Given the description of an element on the screen output the (x, y) to click on. 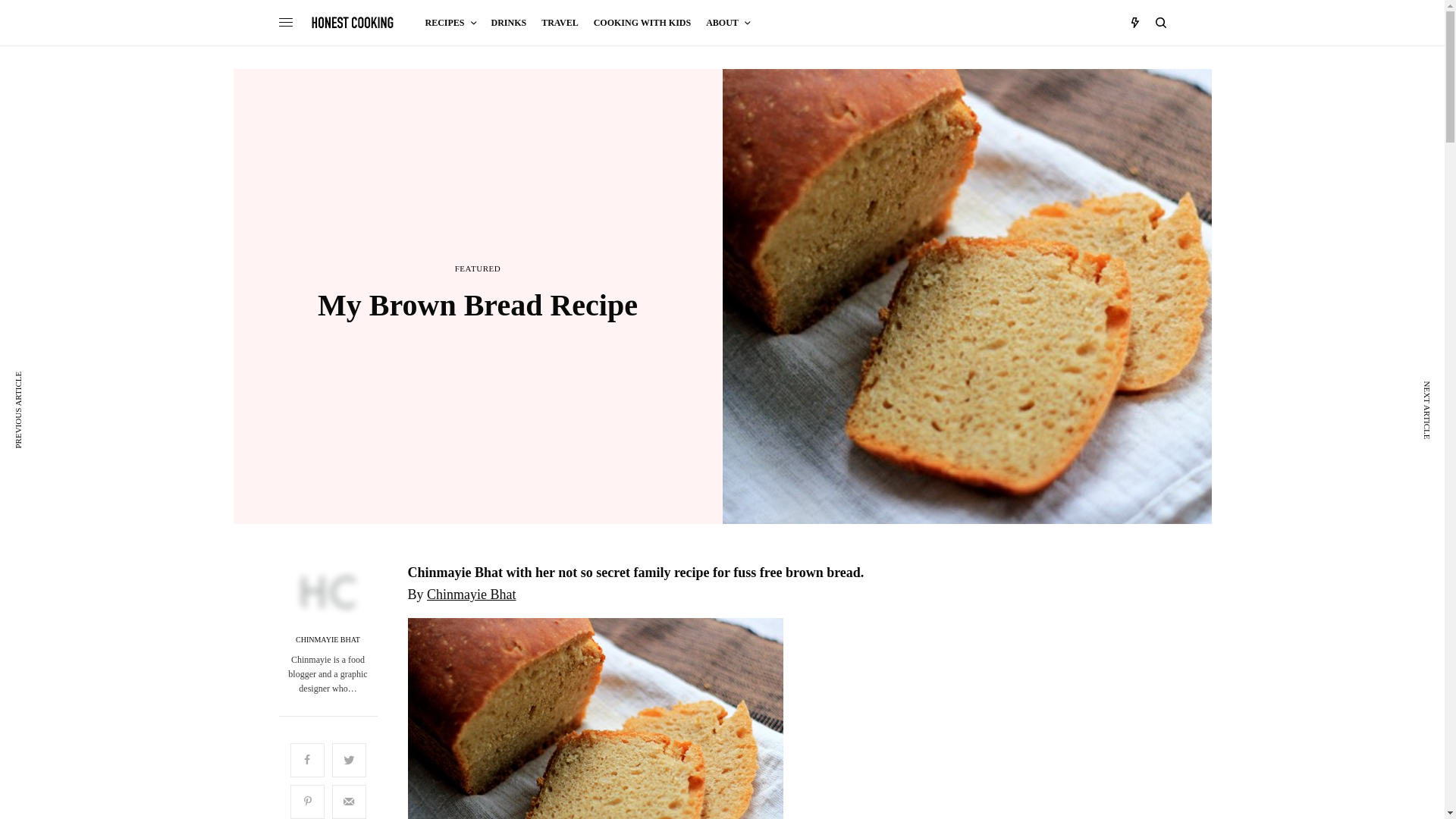
CHINMAYIE BHAT (328, 639)
RECIPES (450, 22)
ABOUT (727, 22)
FEATURED (477, 268)
Chinmayie Bhat (471, 594)
Honest Cooking (352, 22)
COOKING WITH KIDS (642, 22)
